Given the description of an element on the screen output the (x, y) to click on. 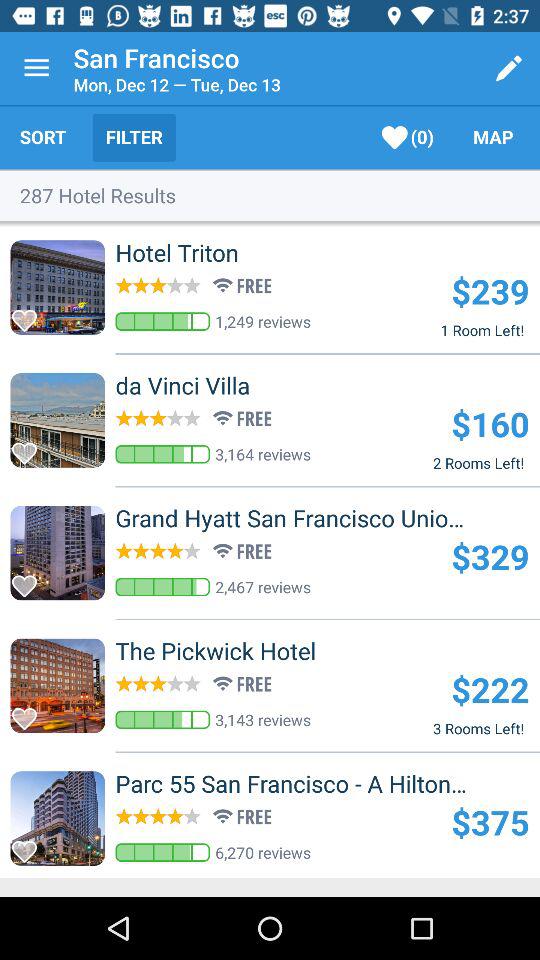
scroll until the hotel triton (209, 252)
